Given the description of an element on the screen output the (x, y) to click on. 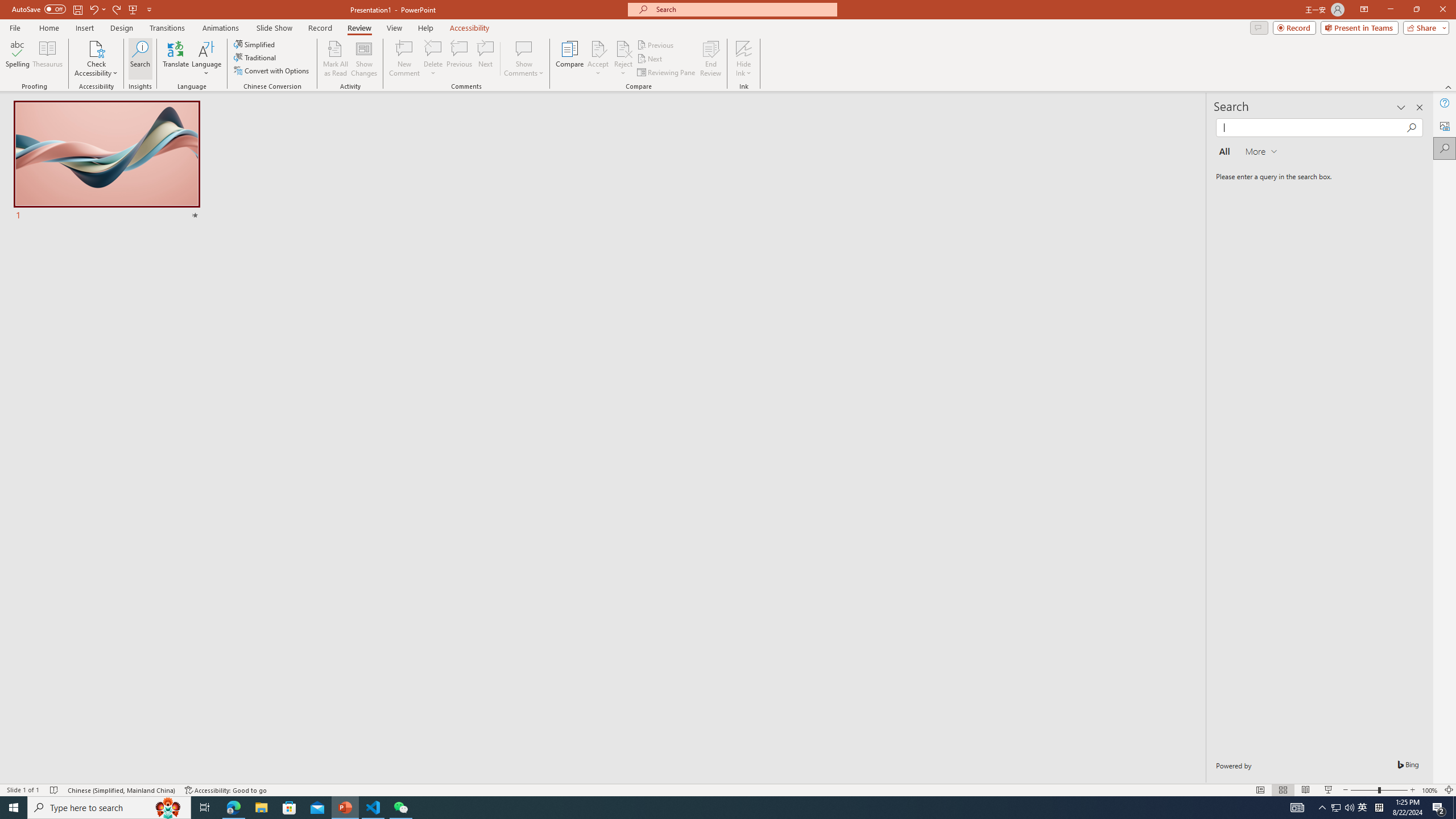
Show Comments (524, 58)
Compare (569, 58)
Alt Text (1444, 125)
Reject Change (622, 48)
Language (206, 58)
Previous (655, 44)
